Given the description of an element on the screen output the (x, y) to click on. 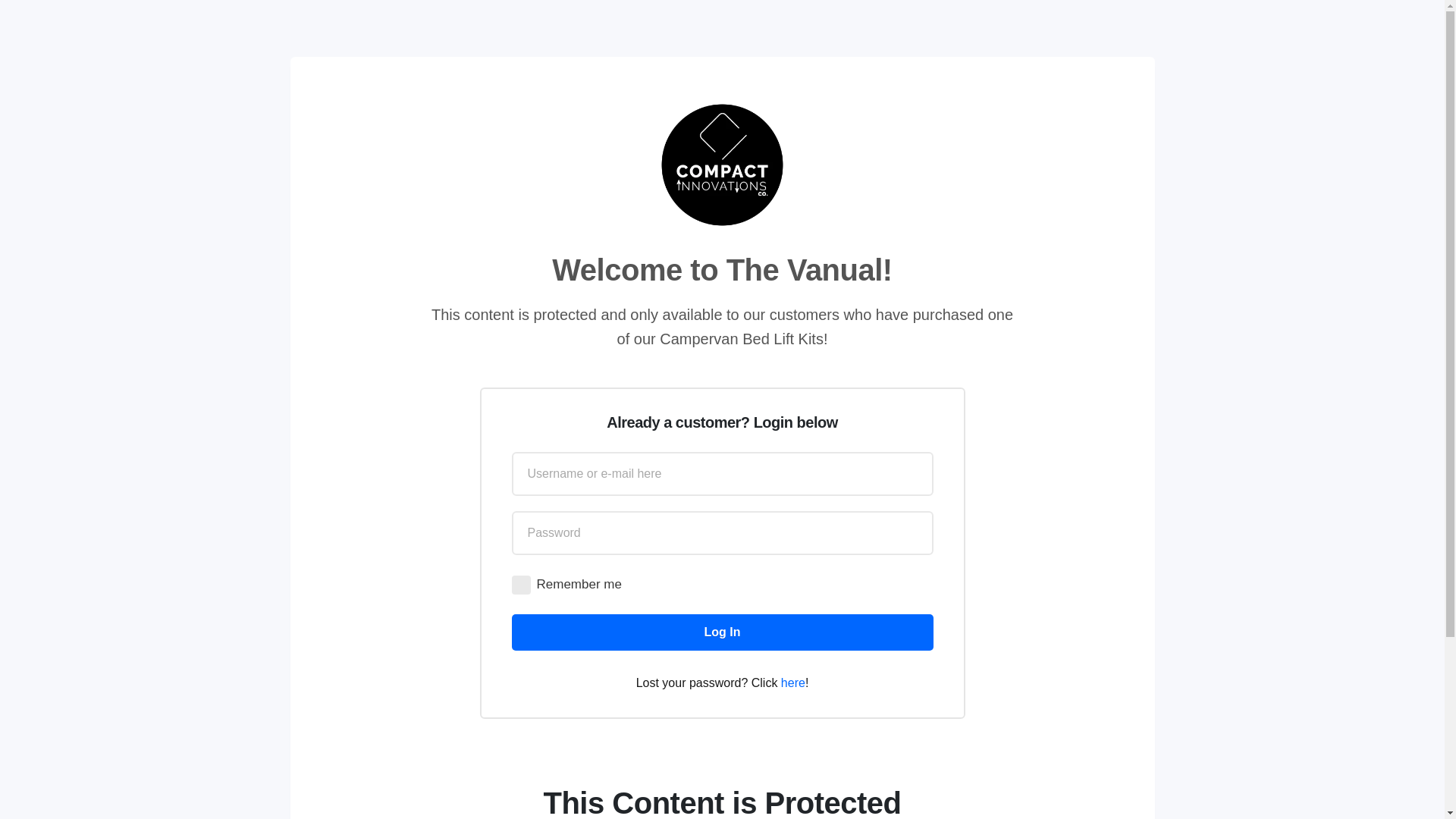
camper van bed lift kit (721, 164)
here (792, 682)
Log In (722, 632)
